Given the description of an element on the screen output the (x, y) to click on. 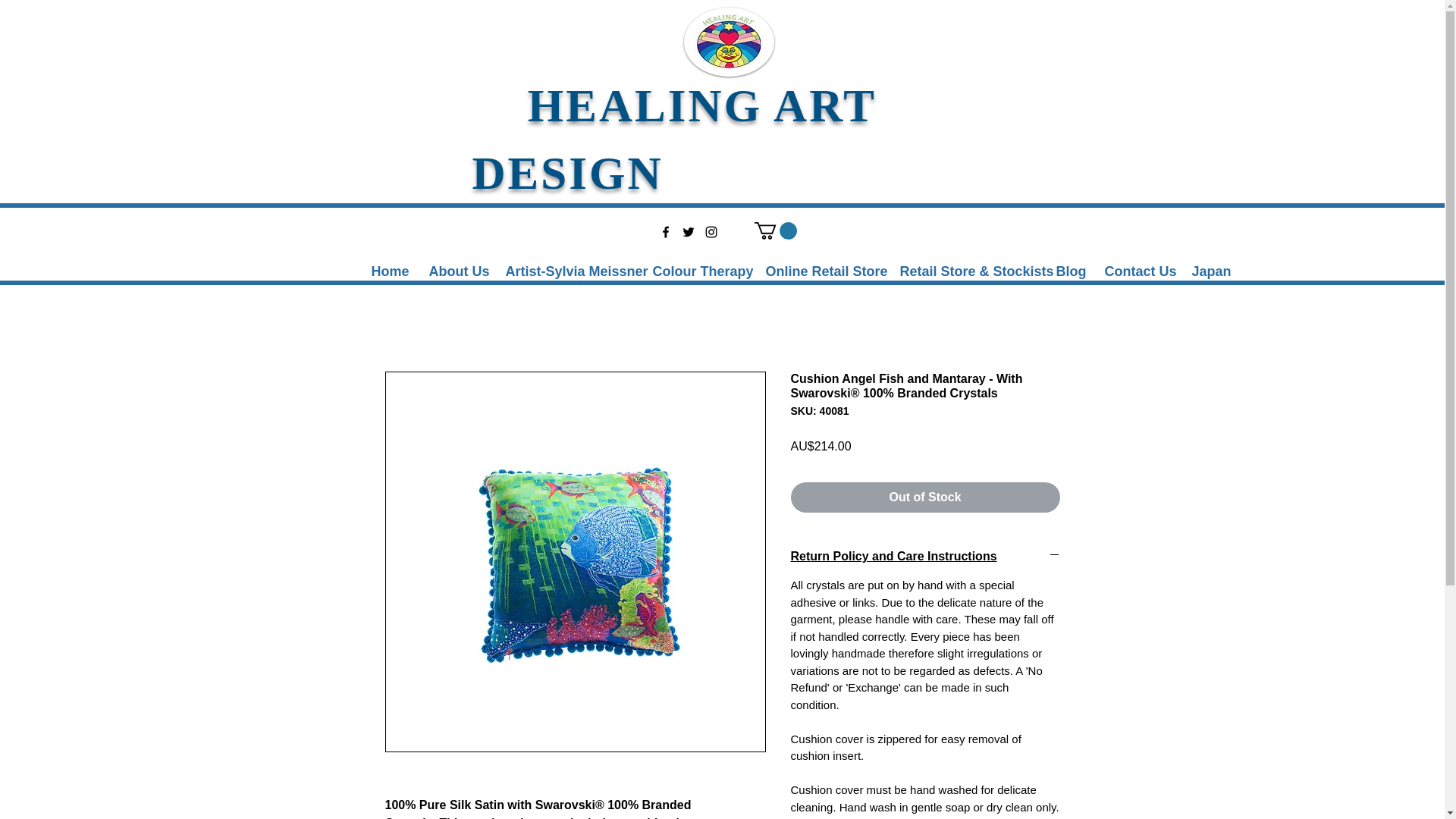
Home (387, 271)
Blog (1069, 271)
Out of Stock (924, 497)
Japan (1208, 271)
Online Retail Store (821, 271)
Return Policy and Care Instructions (924, 556)
Contact Us (1136, 271)
